Given the description of an element on the screen output the (x, y) to click on. 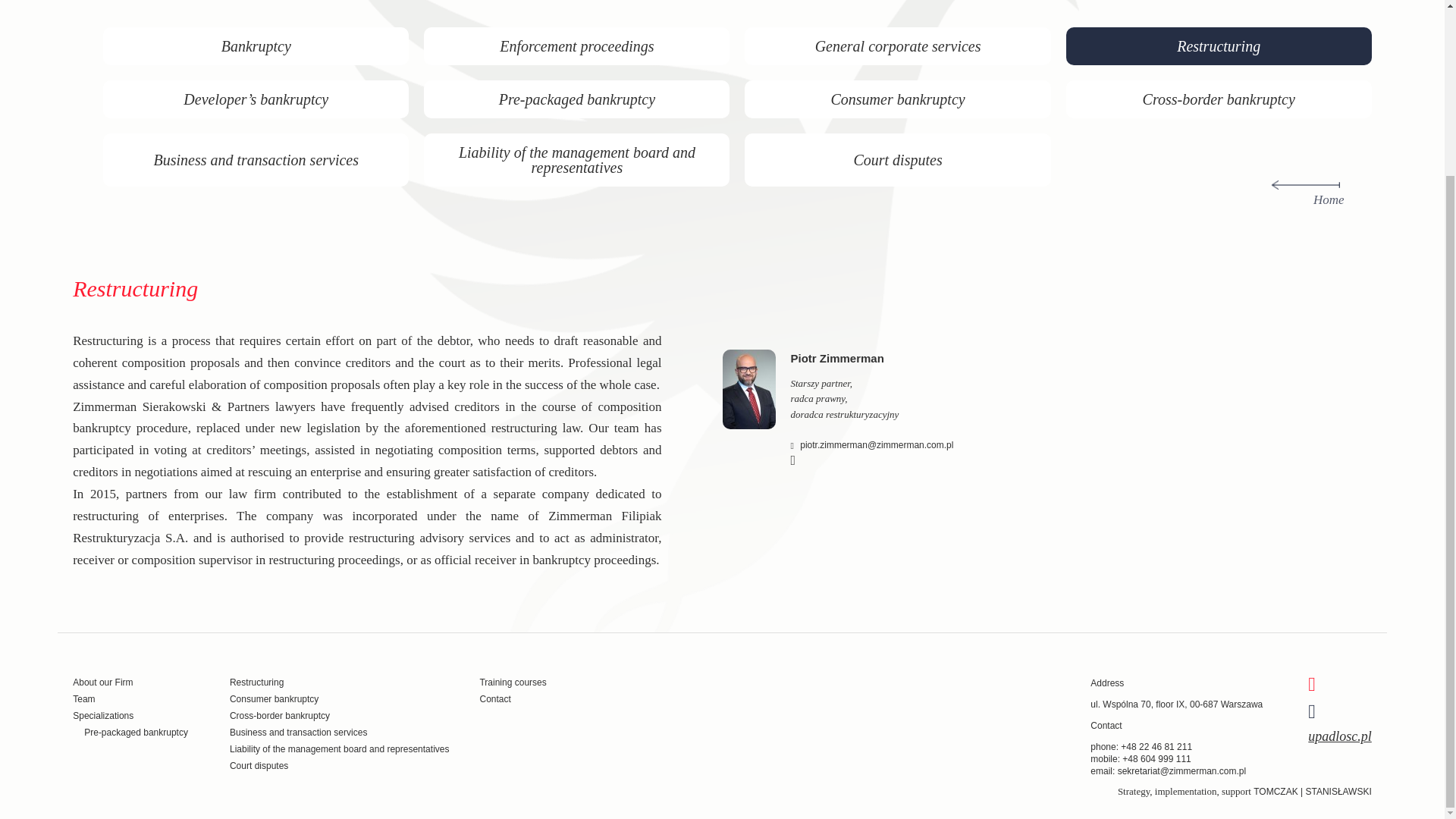
Liability of the management board and representatives (339, 748)
Business and transaction services (256, 159)
Court disputes (897, 159)
Cross-border bankruptcy (1218, 99)
Piotr Zimmerman (836, 362)
Consumer bankruptcy (274, 698)
Enforcement proceedings (576, 46)
Specializations (102, 715)
Send message (871, 445)
Business and transaction services (298, 732)
